Given the description of an element on the screen output the (x, y) to click on. 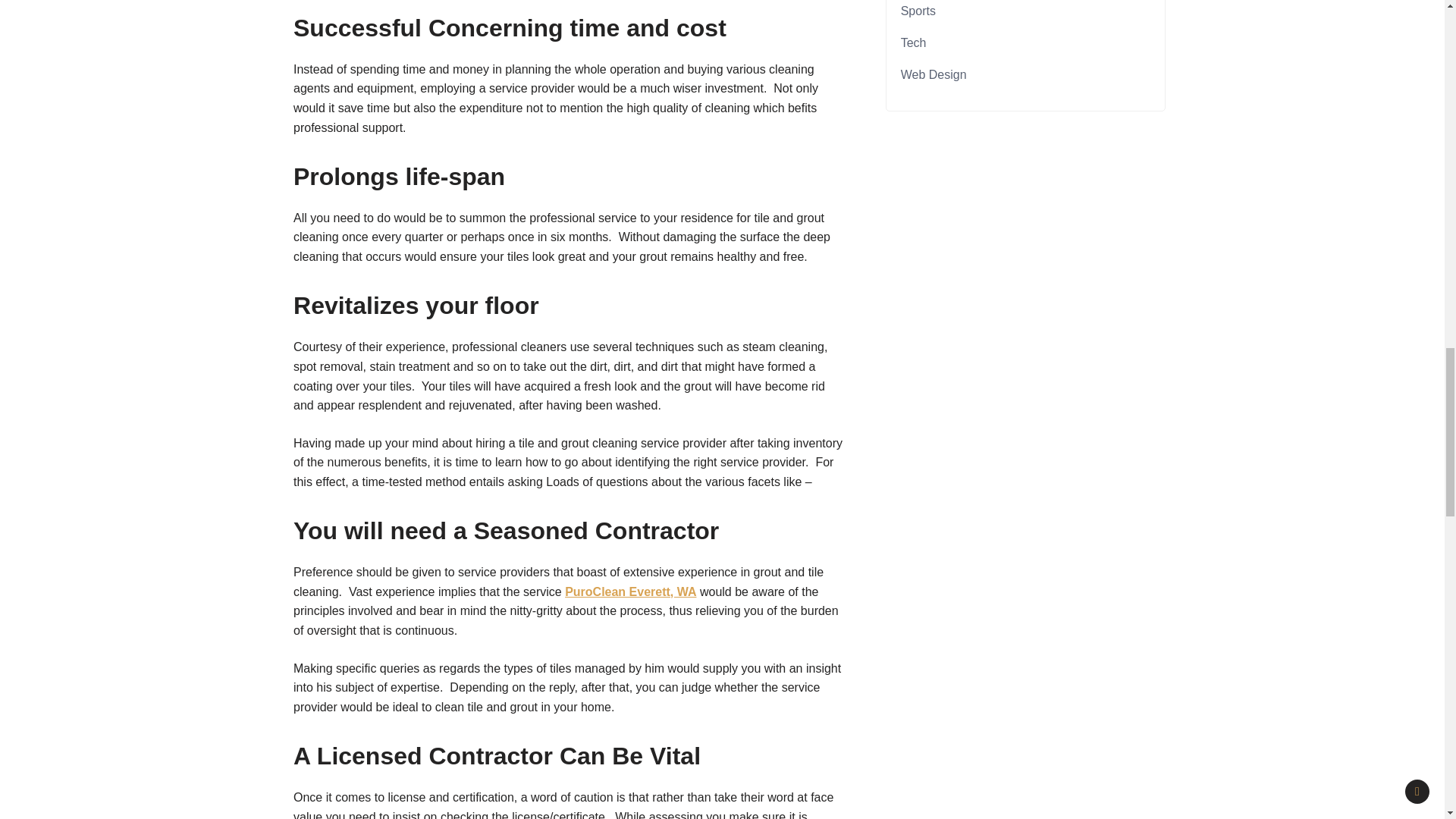
PuroClean Everett, WA (629, 591)
Tech (913, 42)
Web Design (933, 74)
Sports (918, 10)
